Given the description of an element on the screen output the (x, y) to click on. 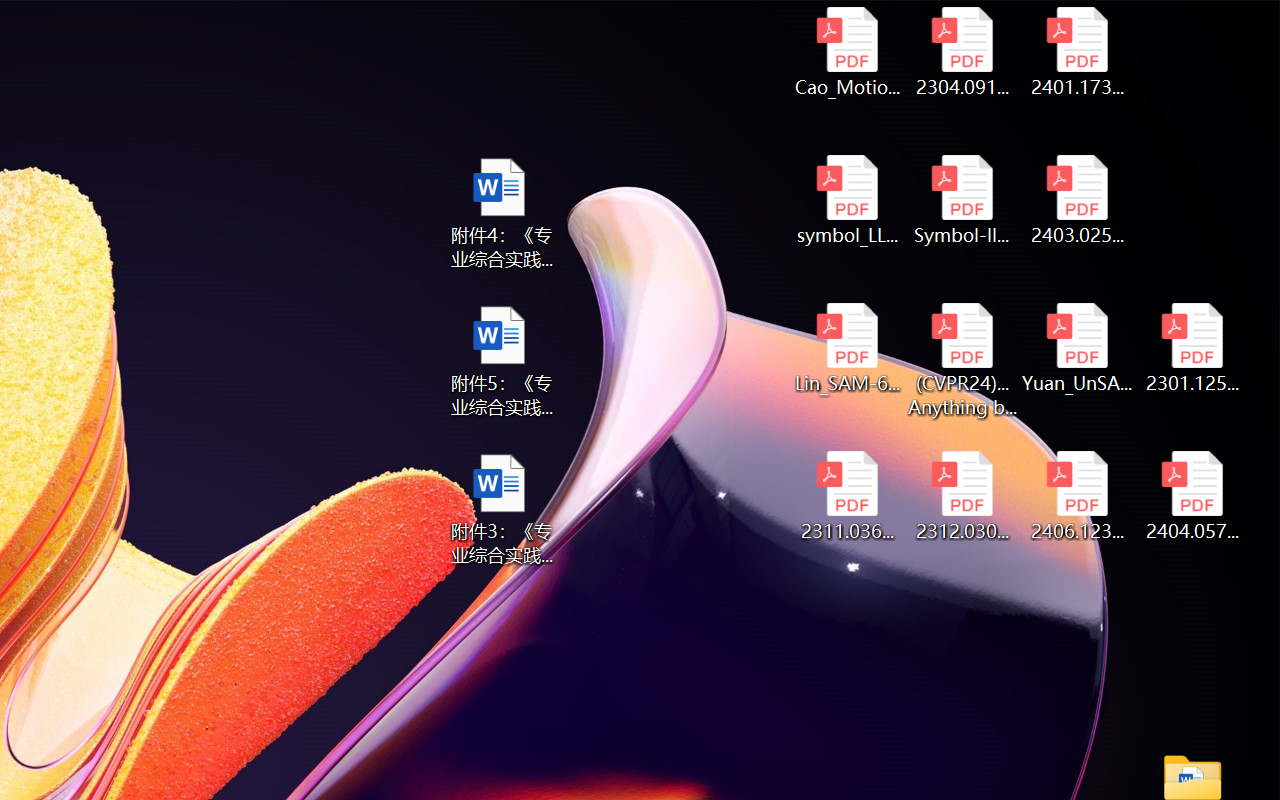
2404.05719v1.pdf (1192, 496)
2401.17399v1.pdf (1077, 52)
symbol_LLM.pdf (846, 200)
2403.02502v1.pdf (1077, 200)
2304.09121v3.pdf (962, 52)
2312.03032v2.pdf (962, 496)
(CVPR24)Matching Anything by Segmenting Anything.pdf (962, 360)
Symbol-llm-v2.pdf (962, 200)
2406.12373v2.pdf (1077, 496)
